Given the description of an element on the screen output the (x, y) to click on. 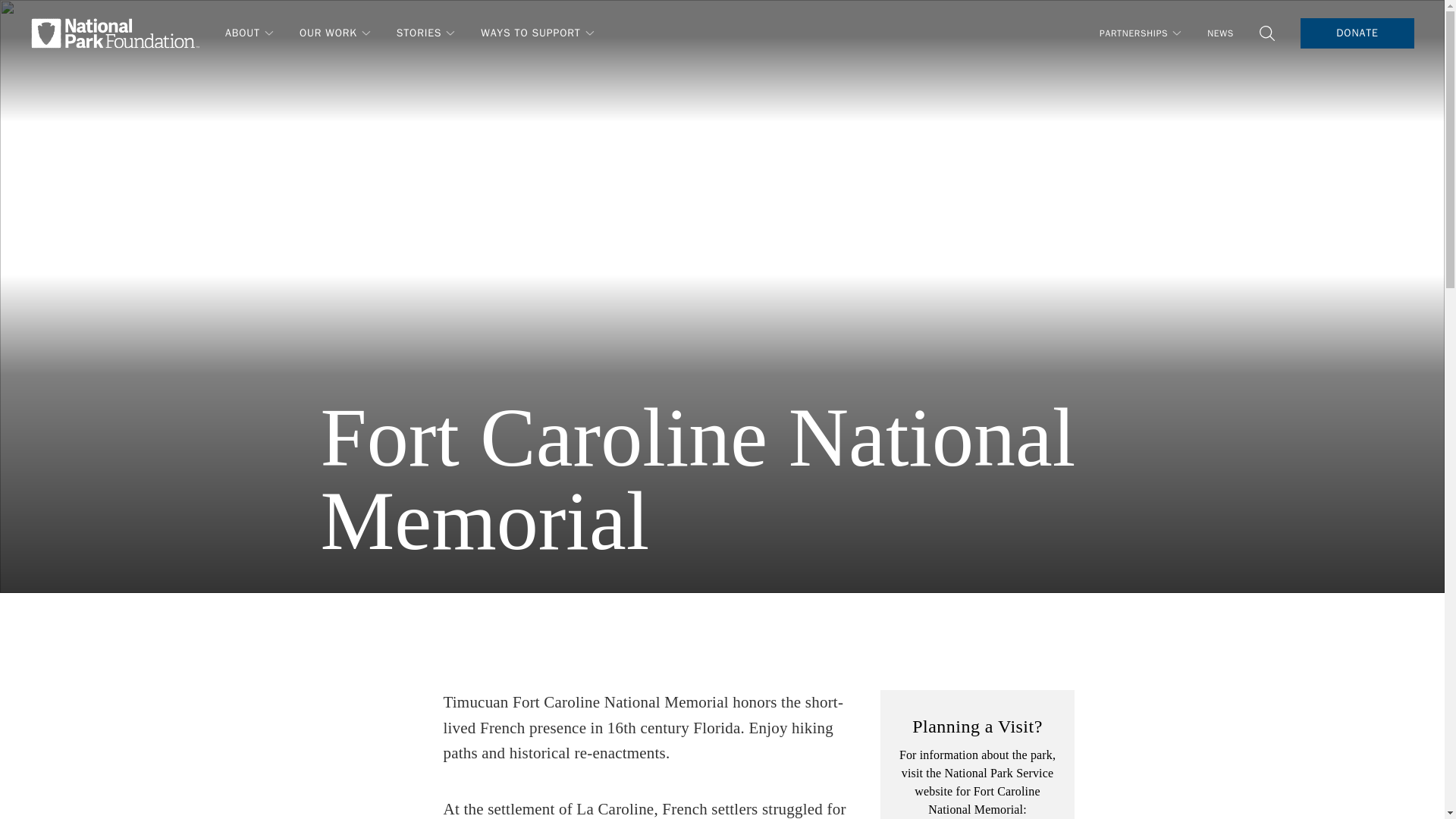
Toggle search bar (1266, 33)
PARTNERSHIPS (1140, 32)
SKIP TO CONTENT (62, 20)
National Park Foundation (115, 33)
STORIES (426, 32)
DONATE (1356, 33)
OUR WORK (335, 32)
WAYS TO SUPPORT (537, 32)
NEWS (1220, 33)
ABOUT (250, 32)
